Given the description of an element on the screen output the (x, y) to click on. 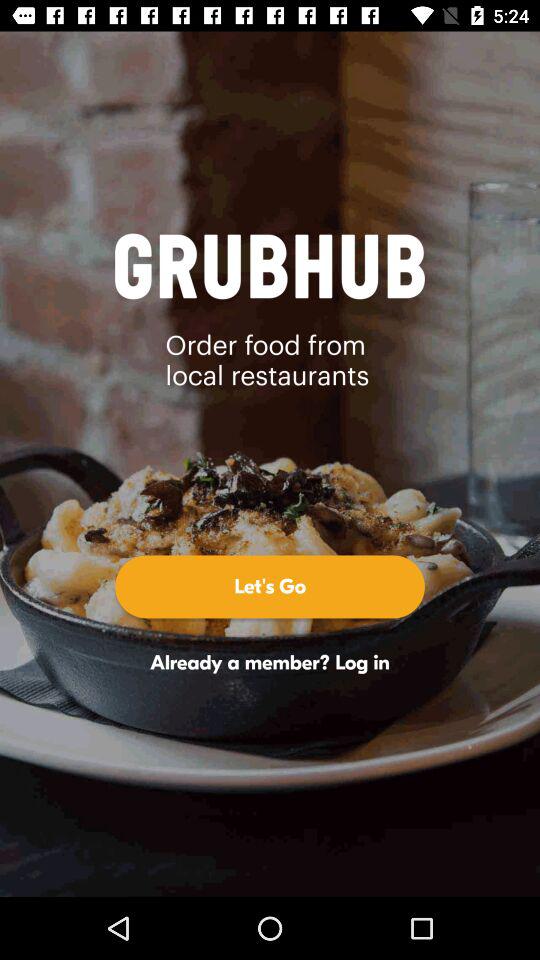
press the already a member icon (269, 662)
